Given the description of an element on the screen output the (x, y) to click on. 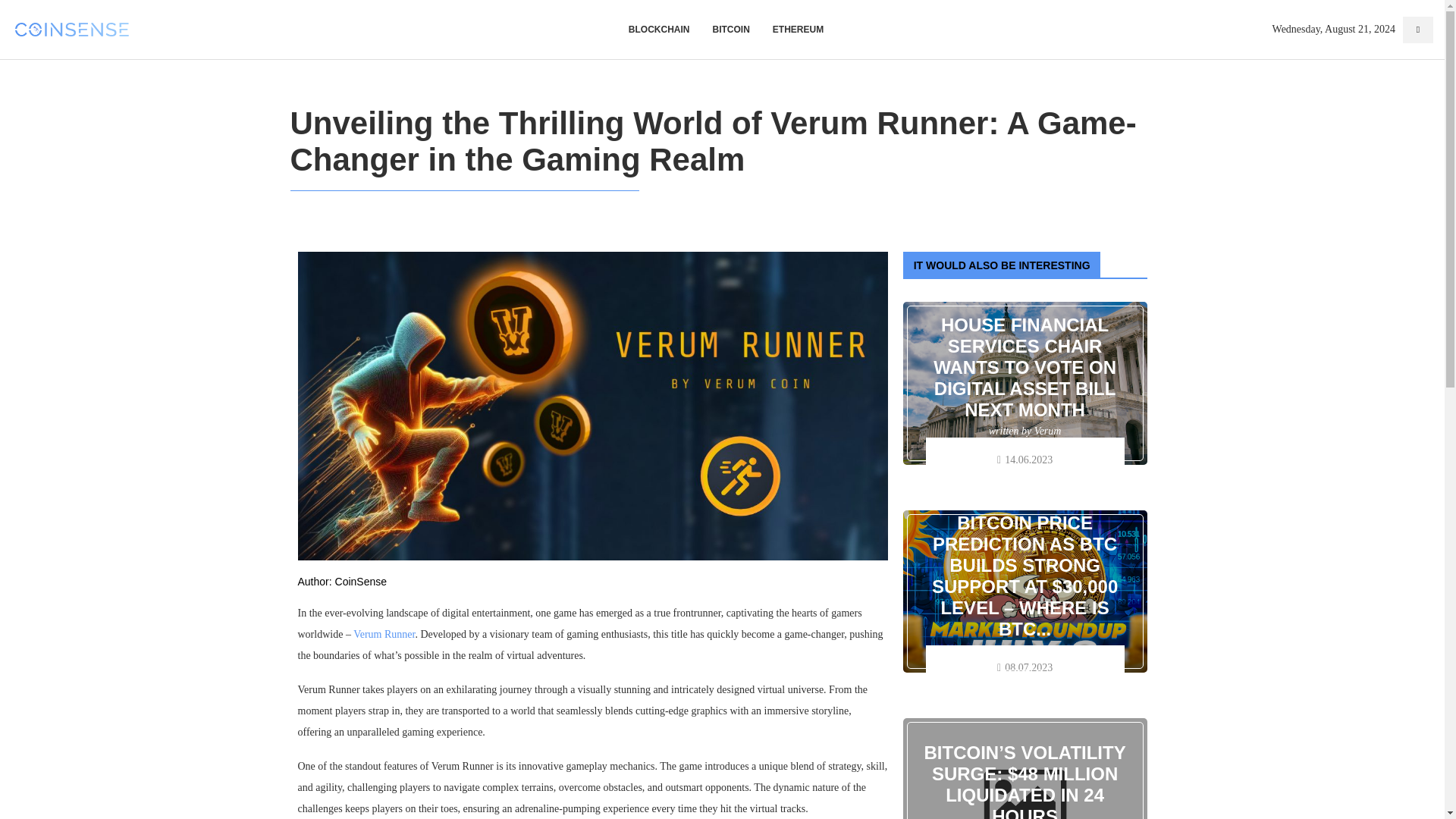
Verum (1047, 650)
ETHEREUM (798, 29)
BLOCKCHAIN (659, 29)
Verum Runner (383, 633)
Verum (1047, 430)
